Given the description of an element on the screen output the (x, y) to click on. 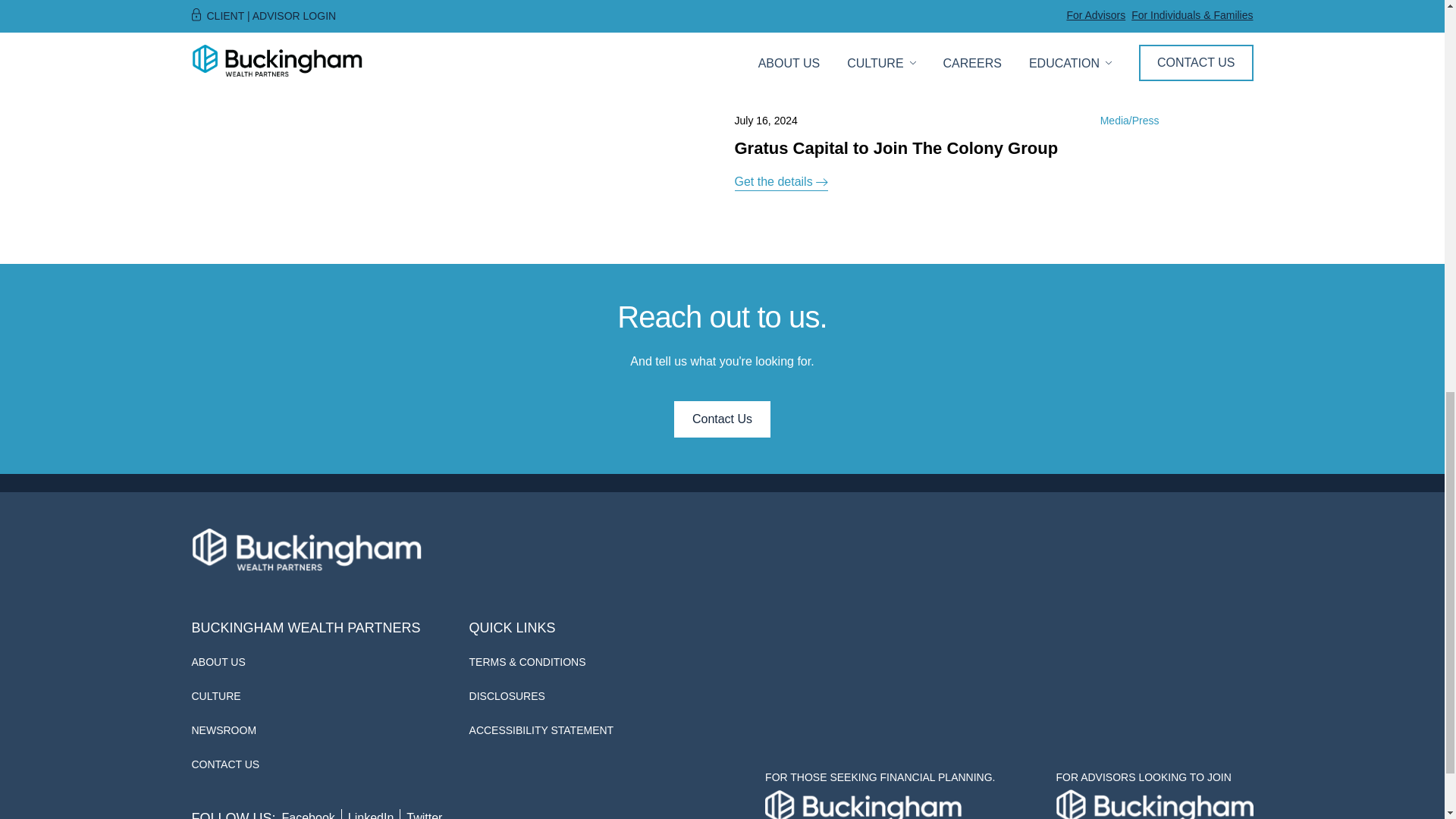
NEWSROOM (223, 729)
CULTURE (215, 695)
Get the details (780, 61)
CONTACT US (224, 764)
ABOUT US (217, 662)
Contact Us (722, 419)
Get the details (780, 181)
